Given the description of an element on the screen output the (x, y) to click on. 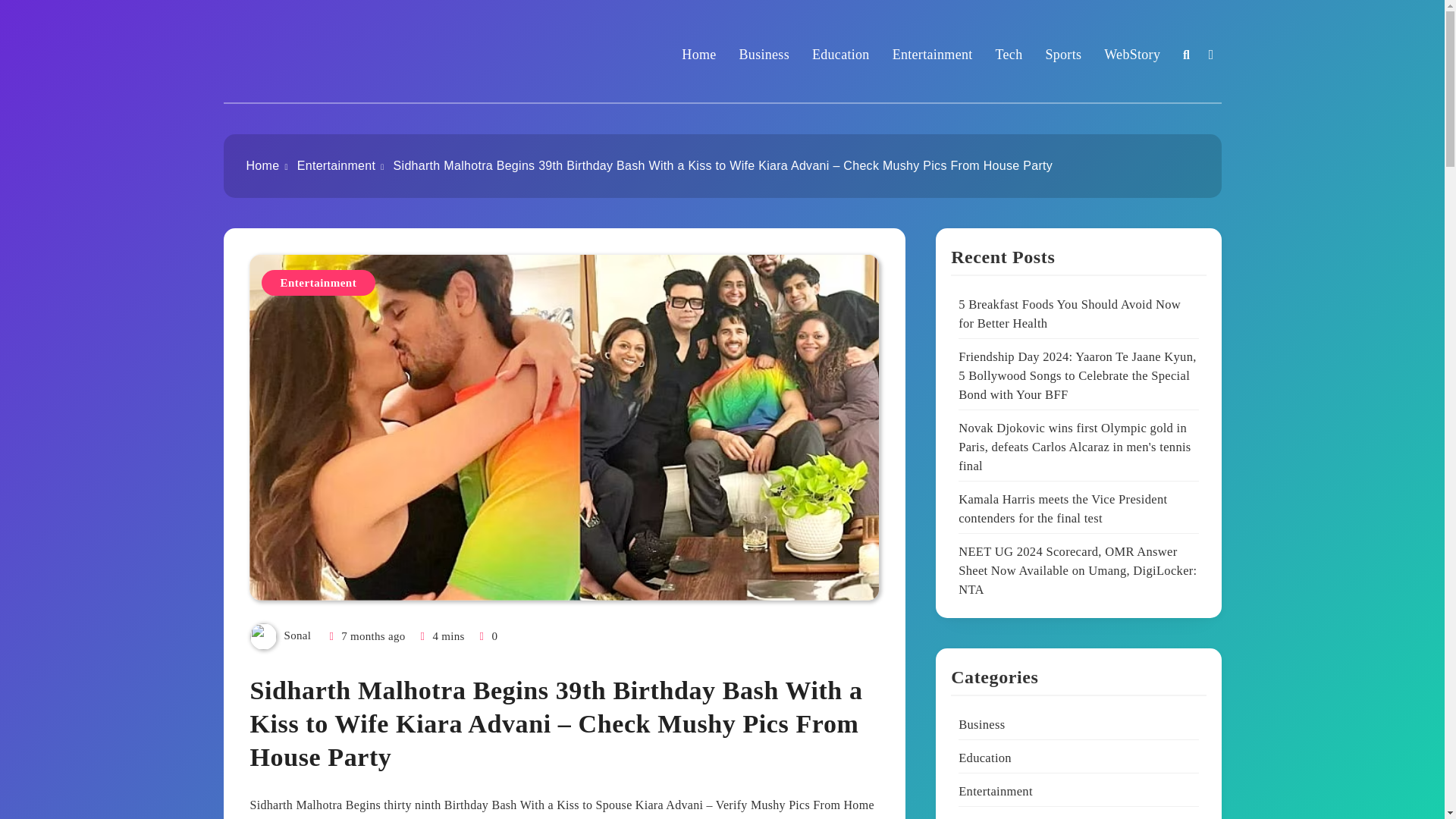
Entertainment (336, 164)
Sparking Trend (314, 71)
7 months ago (372, 635)
WebStory (1131, 54)
Entertainment (317, 282)
Home (262, 164)
0 (486, 636)
Entertainment (932, 54)
Business (764, 54)
Education (840, 54)
Home (698, 54)
Tech (1009, 54)
Sonal (297, 635)
Sports (1063, 54)
